Given the description of an element on the screen output the (x, y) to click on. 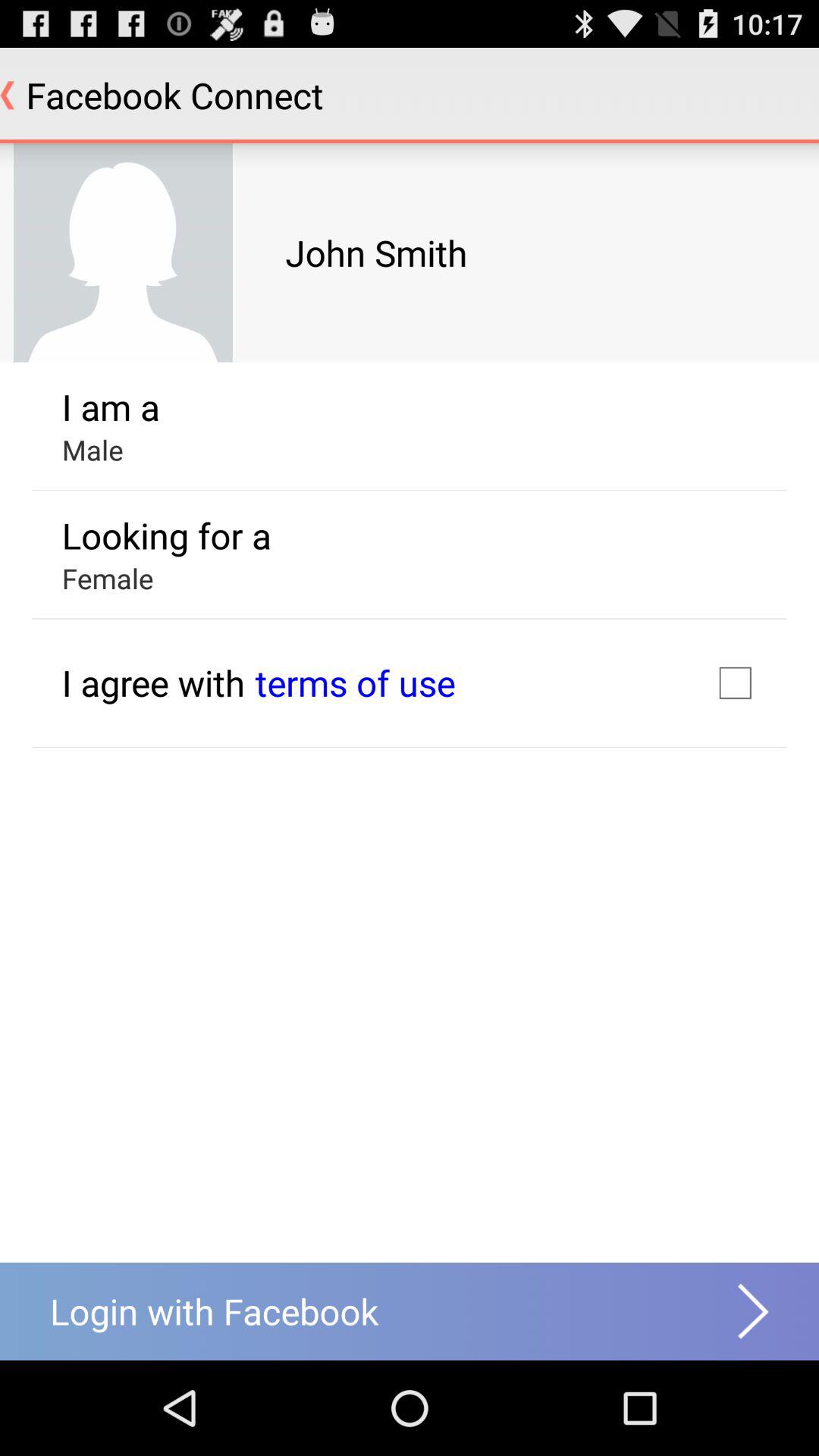
launch icon next to i agree with icon (355, 682)
